Given the description of an element on the screen output the (x, y) to click on. 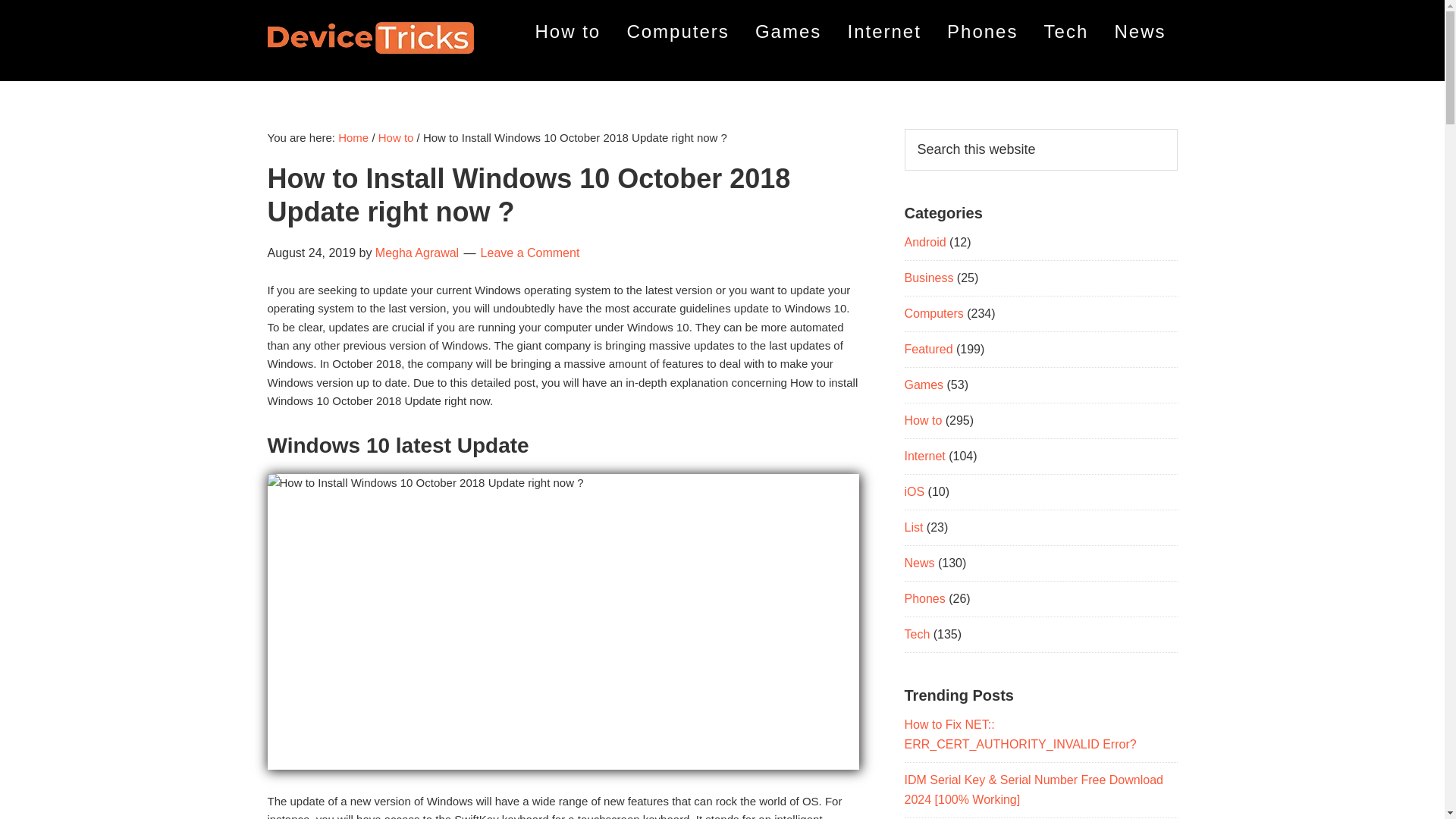
How to (923, 420)
Home (352, 137)
Tech (1066, 31)
Leave a Comment (529, 252)
Android (924, 241)
iOS (914, 491)
News (919, 562)
Internet (924, 455)
Tech (917, 634)
Internet (883, 31)
